Given the description of an element on the screen output the (x, y) to click on. 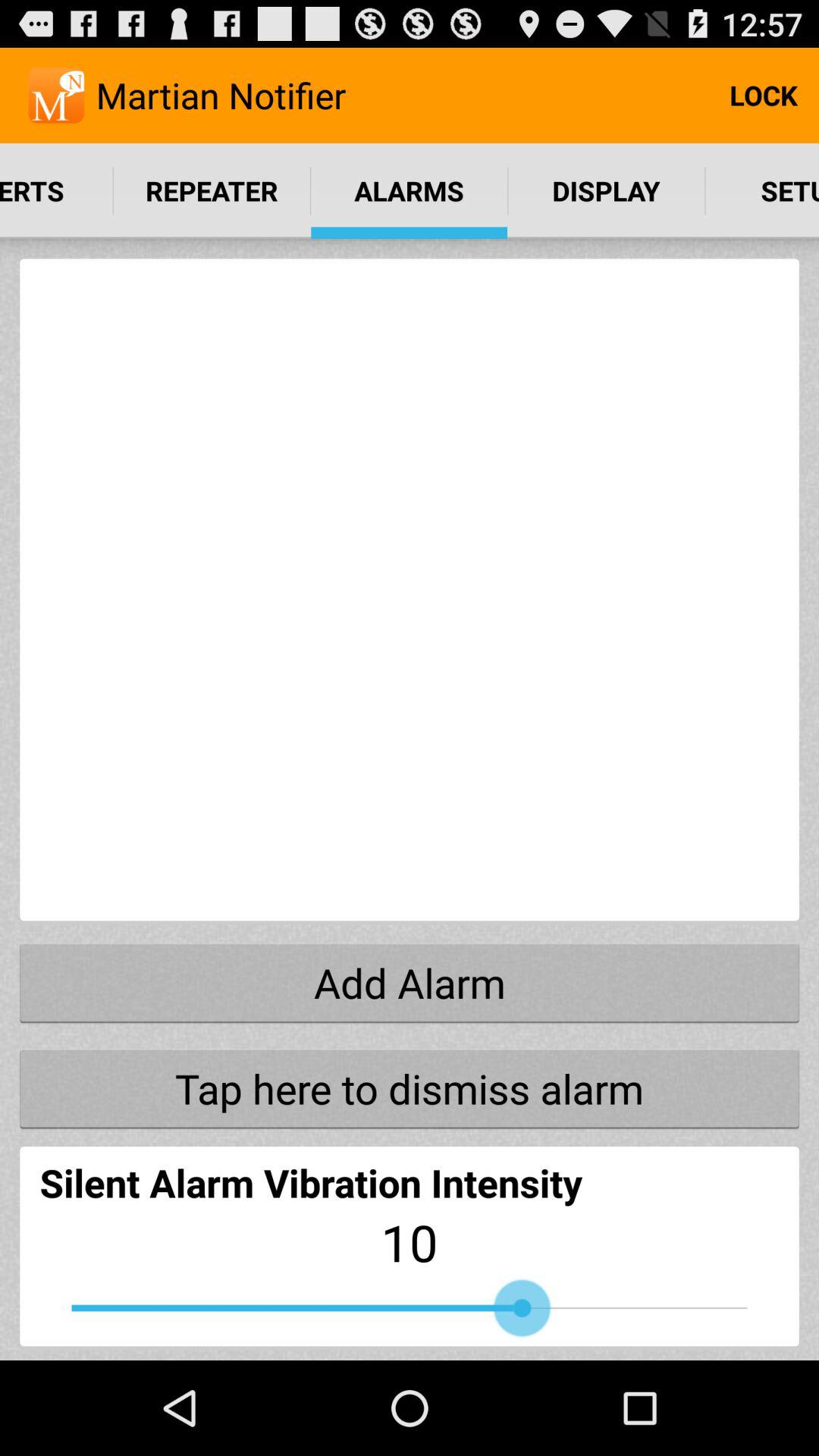
flip to the tap here to item (409, 1088)
